Given the description of an element on the screen output the (x, y) to click on. 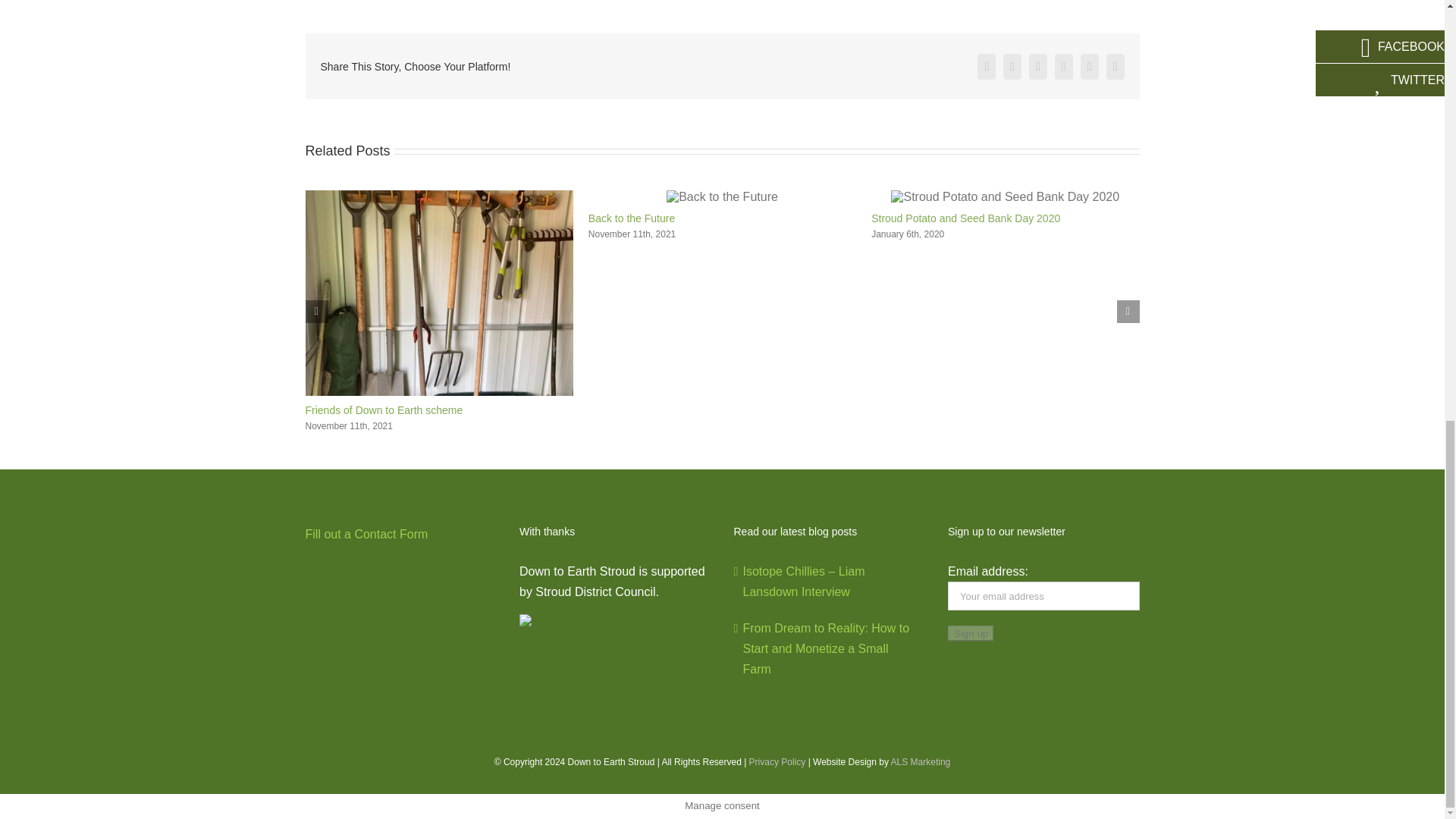
Sign up (970, 633)
Stroud Potato and Seed Bank Day 2020 (964, 218)
Friends of Down to Earth scheme (383, 410)
Back to the Future (631, 218)
